Given the description of an element on the screen output the (x, y) to click on. 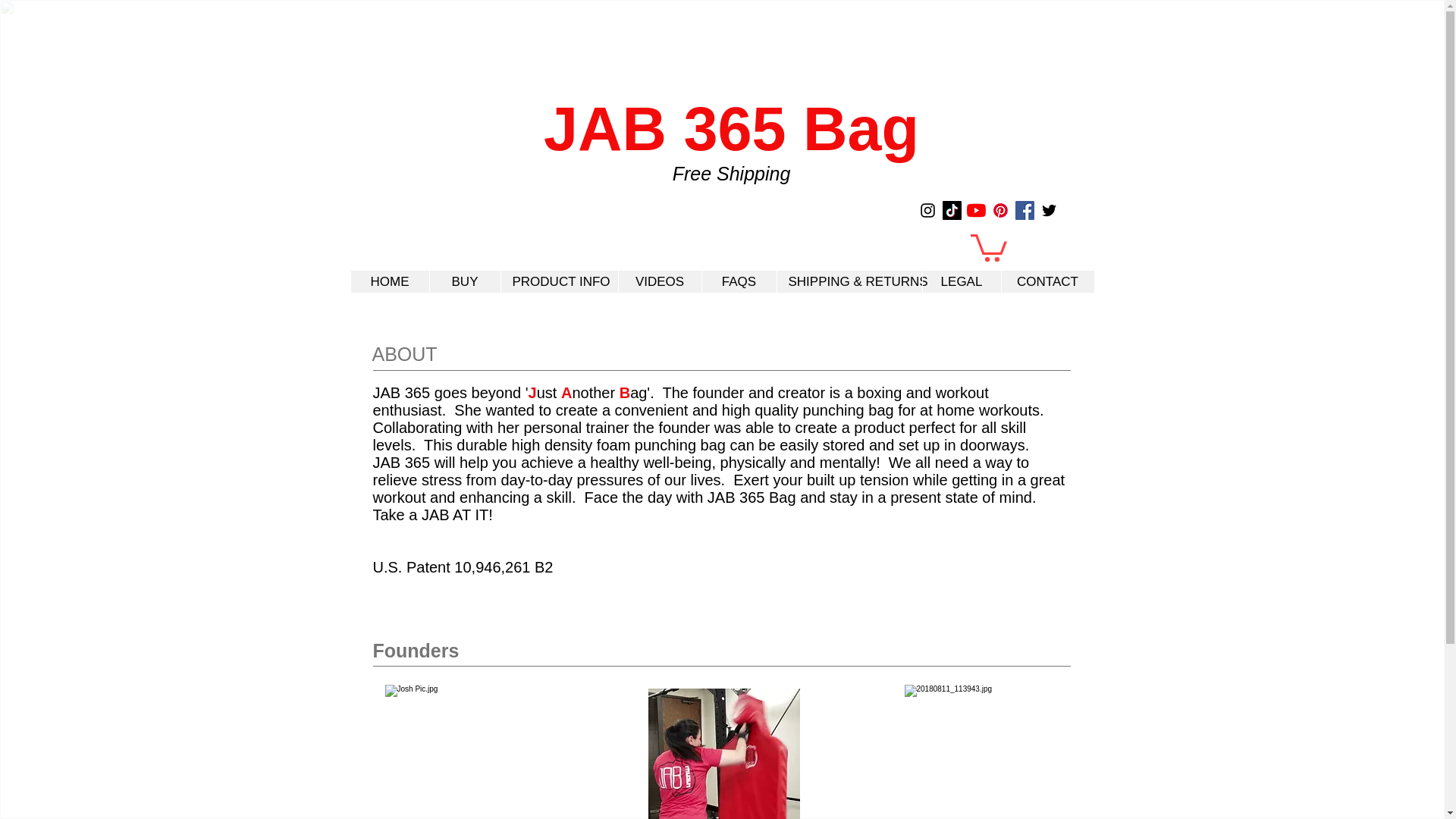
HOME (389, 281)
CONTACT (1047, 281)
LEGAL (961, 281)
PRODUCT INFO (558, 281)
BUY (464, 281)
FAQS (738, 281)
VIDEOS (658, 281)
